Given the description of an element on the screen output the (x, y) to click on. 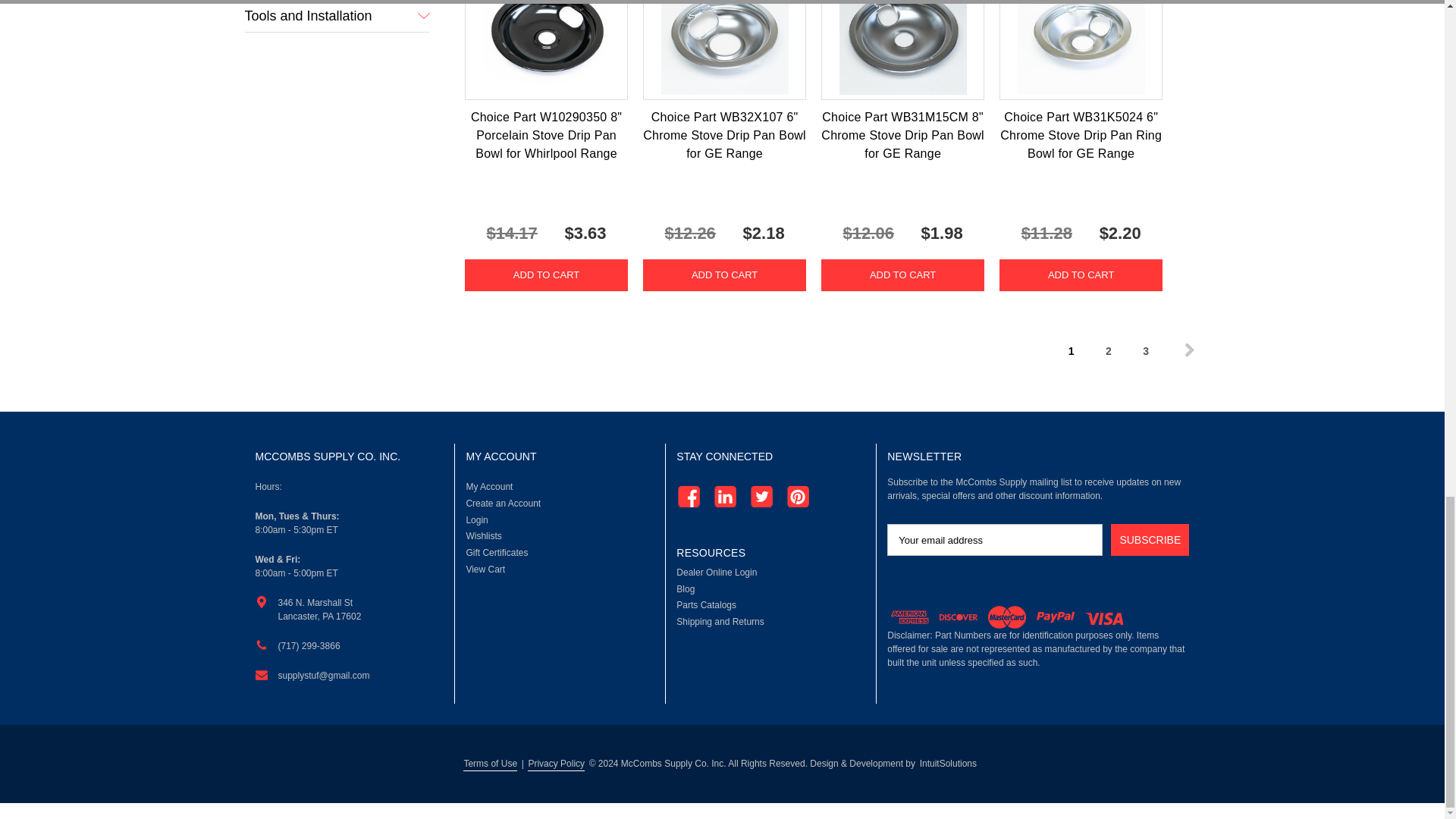
Subscribe (1149, 540)
